Given the description of an element on the screen output the (x, y) to click on. 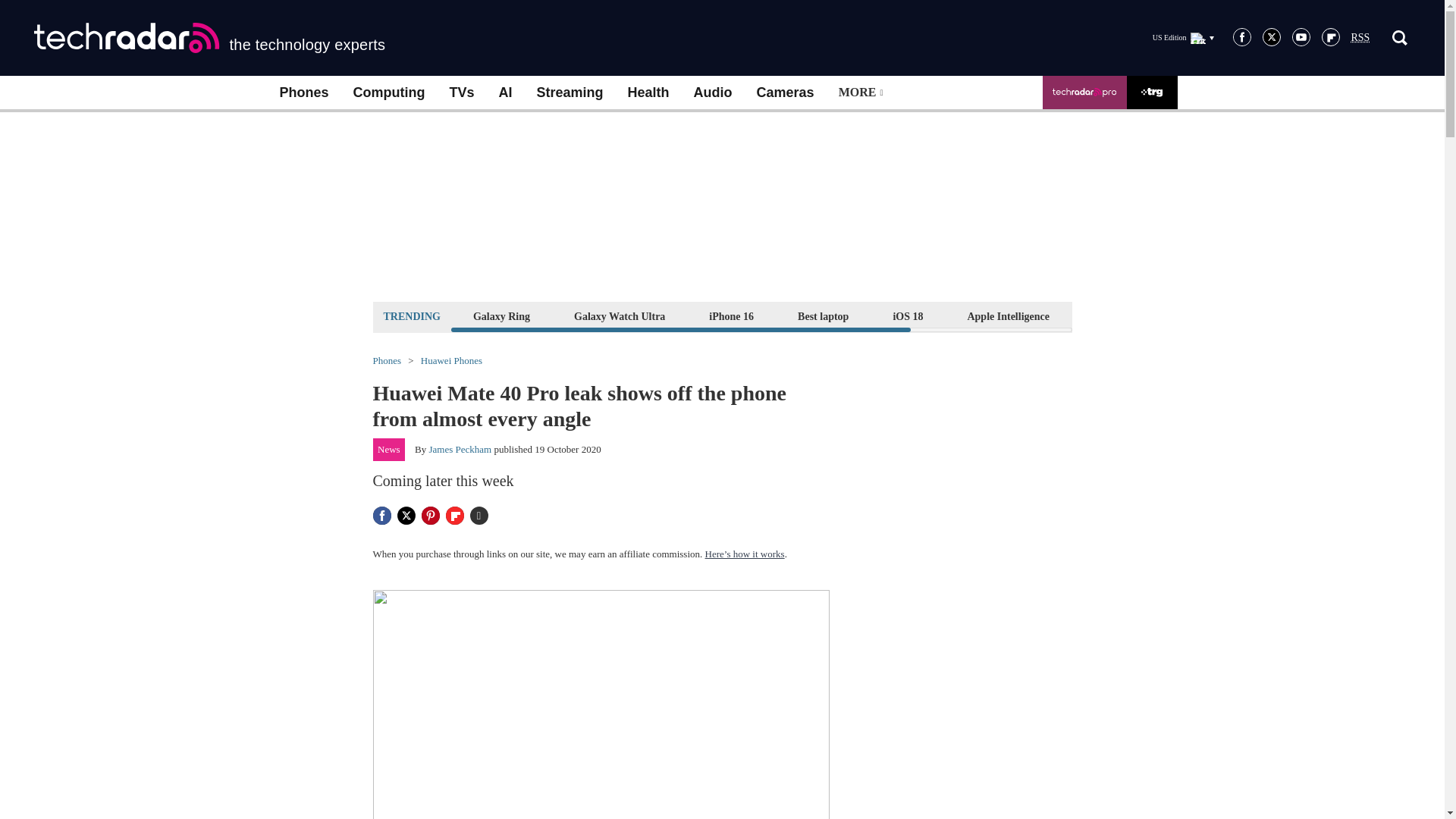
Phones (303, 92)
RSS (1360, 38)
Audio (712, 92)
AI (505, 92)
Streaming (569, 92)
Really Simple Syndication (1360, 37)
US Edition (1182, 37)
Health (648, 92)
the technology experts (209, 38)
Computing (389, 92)
TVs (461, 92)
Cameras (785, 92)
